Given the description of an element on the screen output the (x, y) to click on. 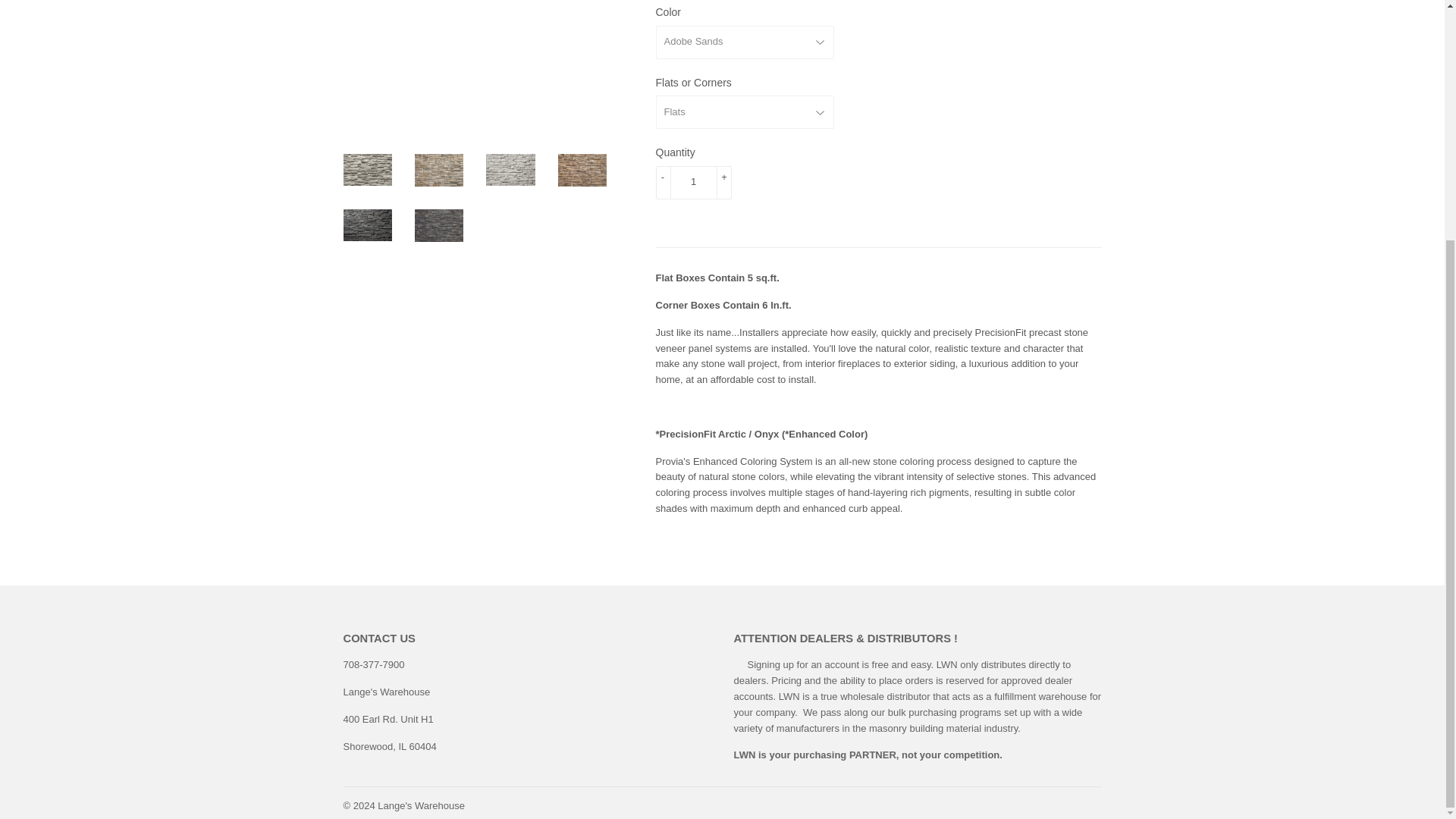
Lange's Warehouse (420, 805)
1 (692, 182)
